Given the description of an element on the screen output the (x, y) to click on. 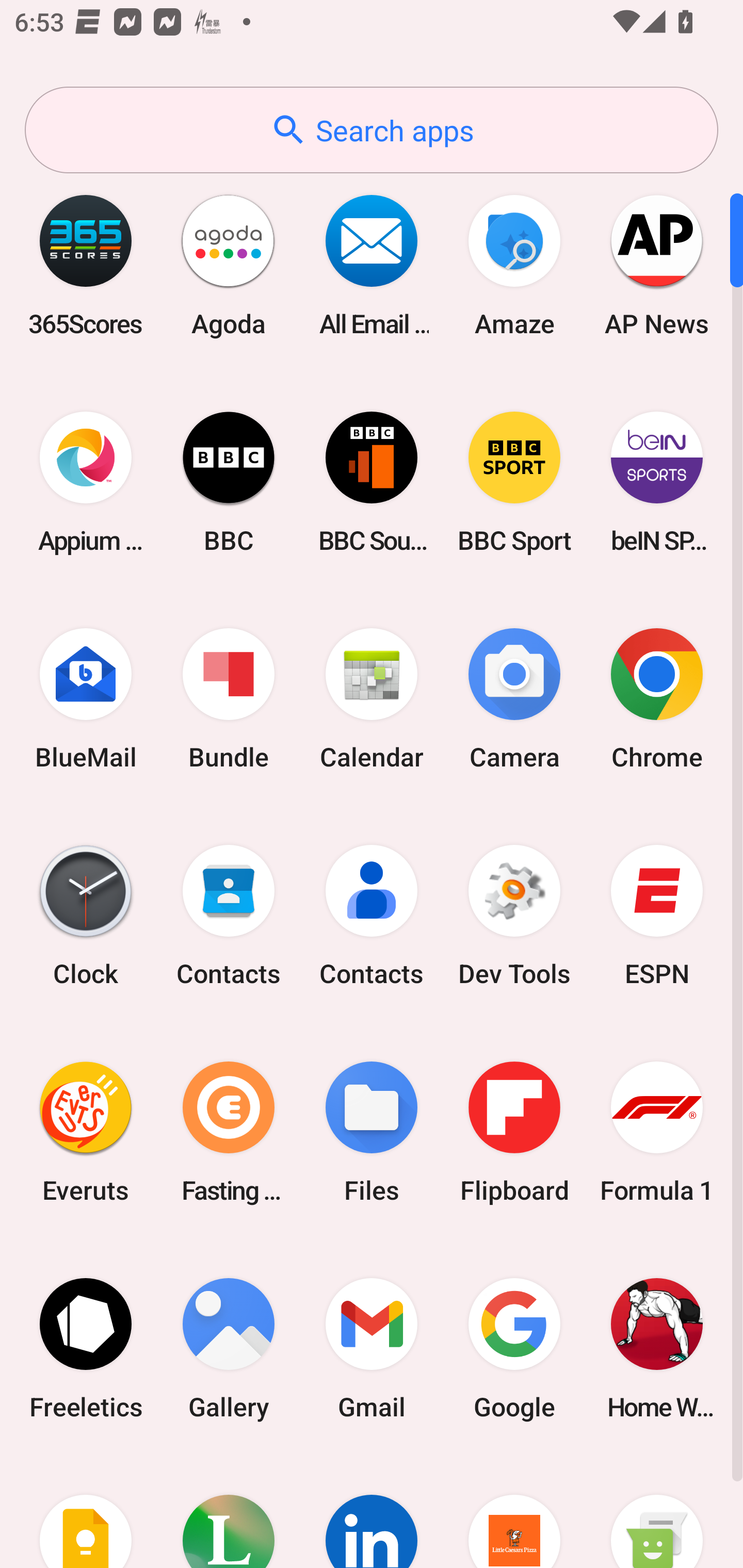
  Search apps (371, 130)
365Scores (85, 264)
Agoda (228, 264)
All Email Connect (371, 264)
Amaze (514, 264)
AP News (656, 264)
Appium Settings (85, 482)
BBC (228, 482)
BBC Sounds (371, 482)
BBC Sport (514, 482)
beIN SPORTS (656, 482)
BlueMail (85, 699)
Bundle (228, 699)
Calendar (371, 699)
Camera (514, 699)
Chrome (656, 699)
Clock (85, 915)
Contacts (228, 915)
Contacts (371, 915)
Dev Tools (514, 915)
ESPN (656, 915)
Everuts (85, 1131)
Fasting Coach (228, 1131)
Files (371, 1131)
Flipboard (514, 1131)
Formula 1 (656, 1131)
Freeletics (85, 1348)
Gallery (228, 1348)
Gmail (371, 1348)
Google (514, 1348)
Home Workout (656, 1348)
Keep Notes (85, 1512)
Lifesum (228, 1512)
LinkedIn (371, 1512)
Little Caesars Pizza (514, 1512)
Messaging (656, 1512)
